Given the description of an element on the screen output the (x, y) to click on. 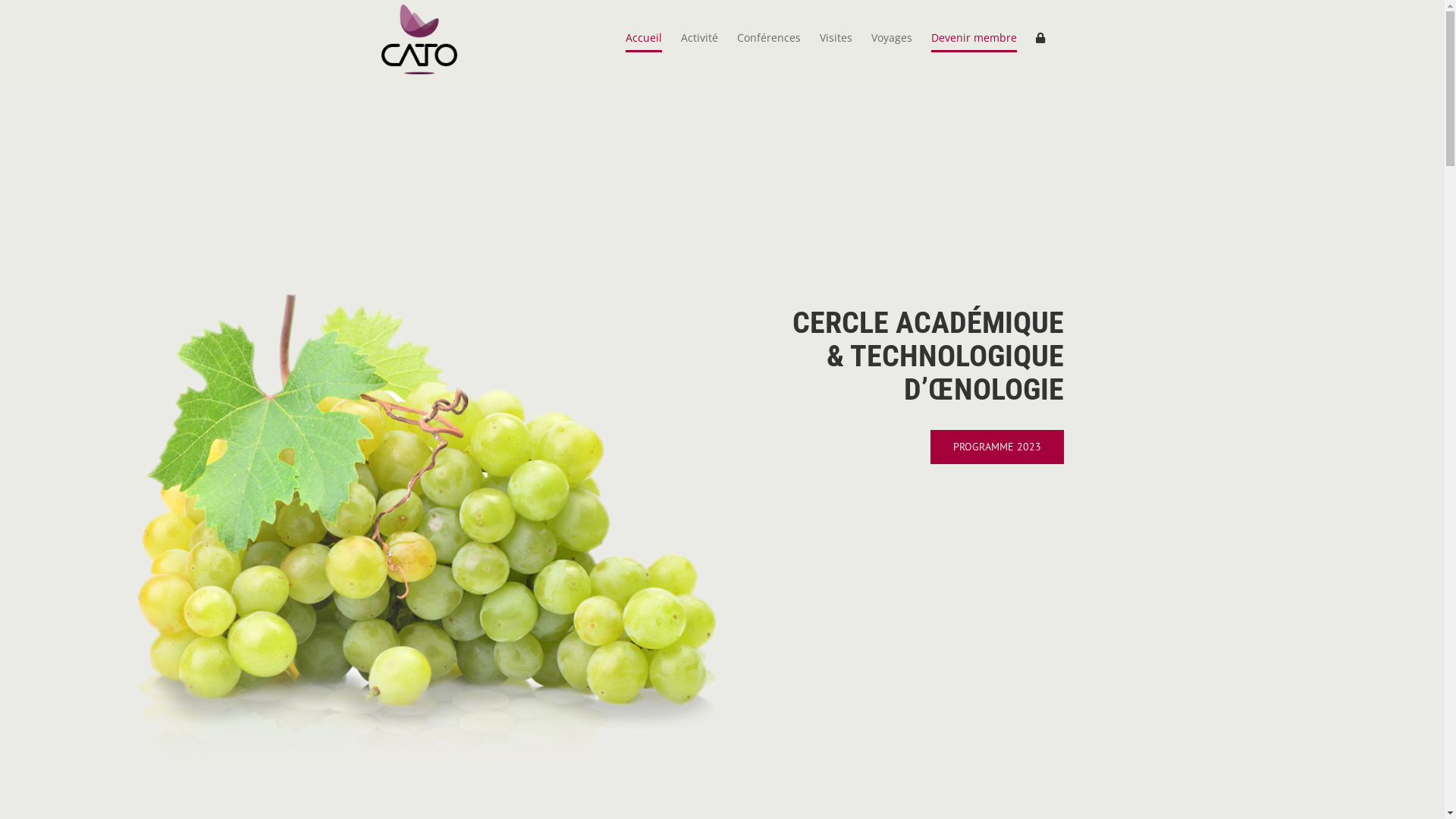
Visites Element type: text (835, 37)
PROGRAMME 2023 Element type: text (996, 446)
Accueil Element type: text (642, 37)
Voyages Element type: text (890, 37)
Devenir membre Element type: text (973, 37)
